Given the description of an element on the screen output the (x, y) to click on. 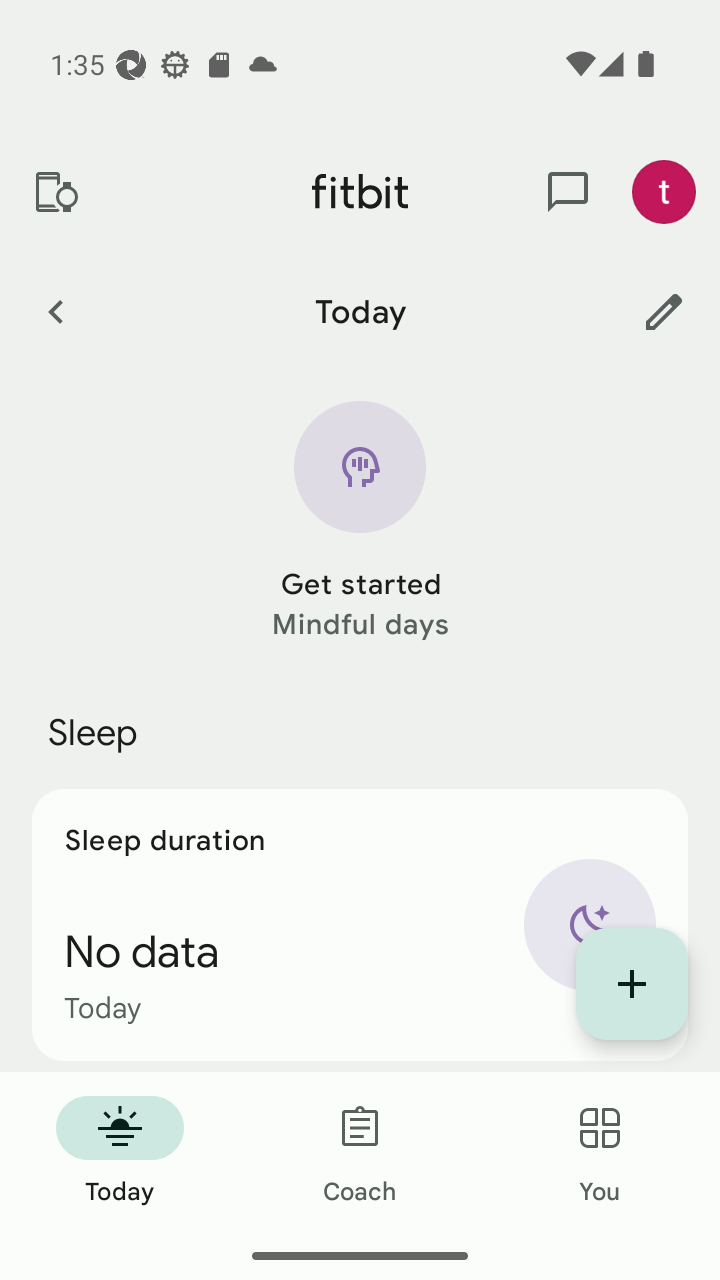
Devices and apps (55, 191)
messages and notifications (567, 191)
Previous Day (55, 311)
Customize (664, 311)
Mindfulness icon Get started Mindful days (360, 522)
Sleep duration No data Today Sleep static arc (359, 924)
Display list of quick log entries (632, 983)
Coach (359, 1151)
You (600, 1151)
